Given the description of an element on the screen output the (x, y) to click on. 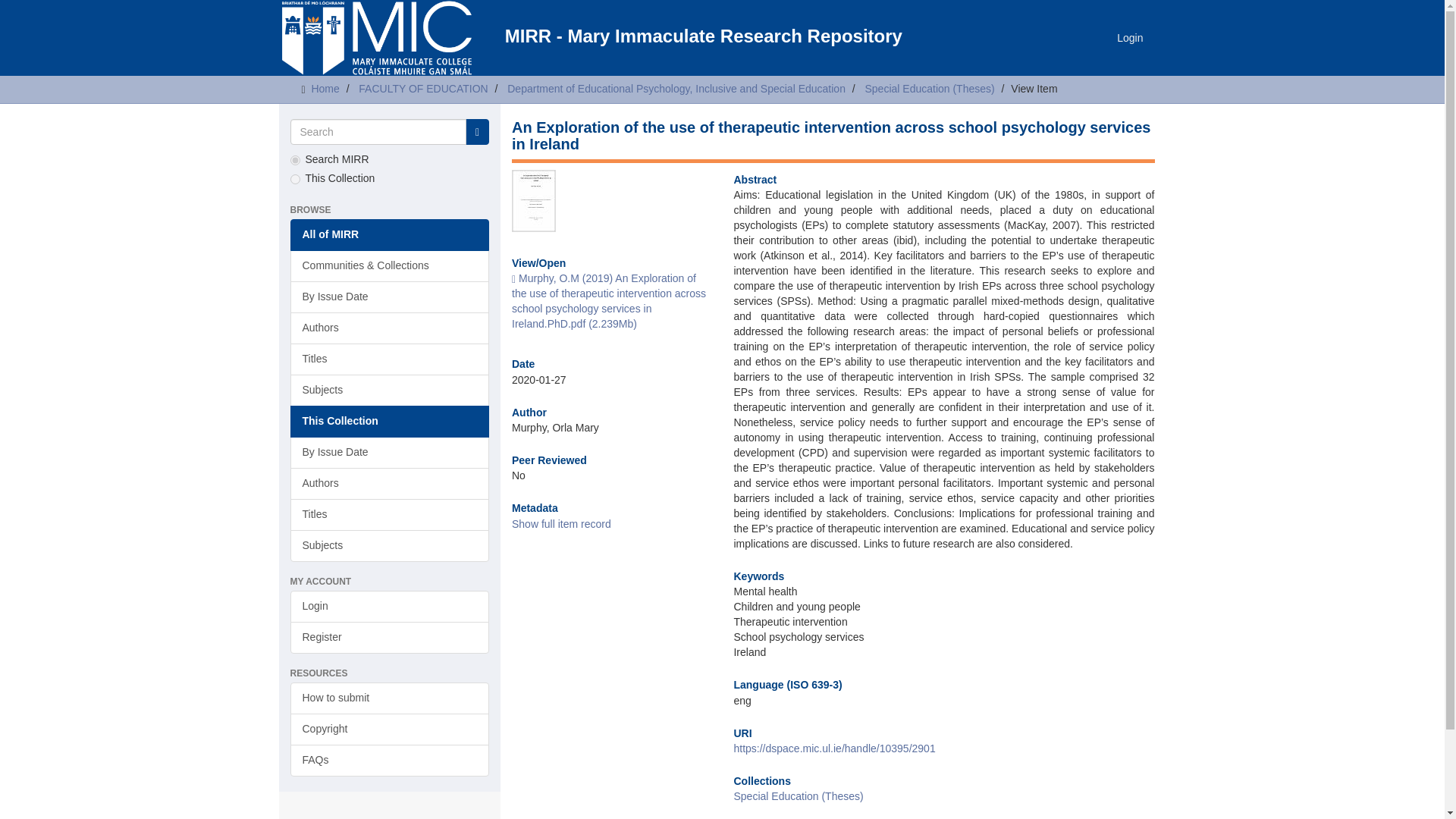
Copyright (389, 729)
By Issue Date (389, 296)
All of MIRR (389, 234)
Titles (389, 359)
Login (389, 606)
By Issue Date (389, 452)
Authors (389, 327)
Home (325, 88)
Register (389, 637)
This Collection (389, 421)
